Given the description of an element on the screen output the (x, y) to click on. 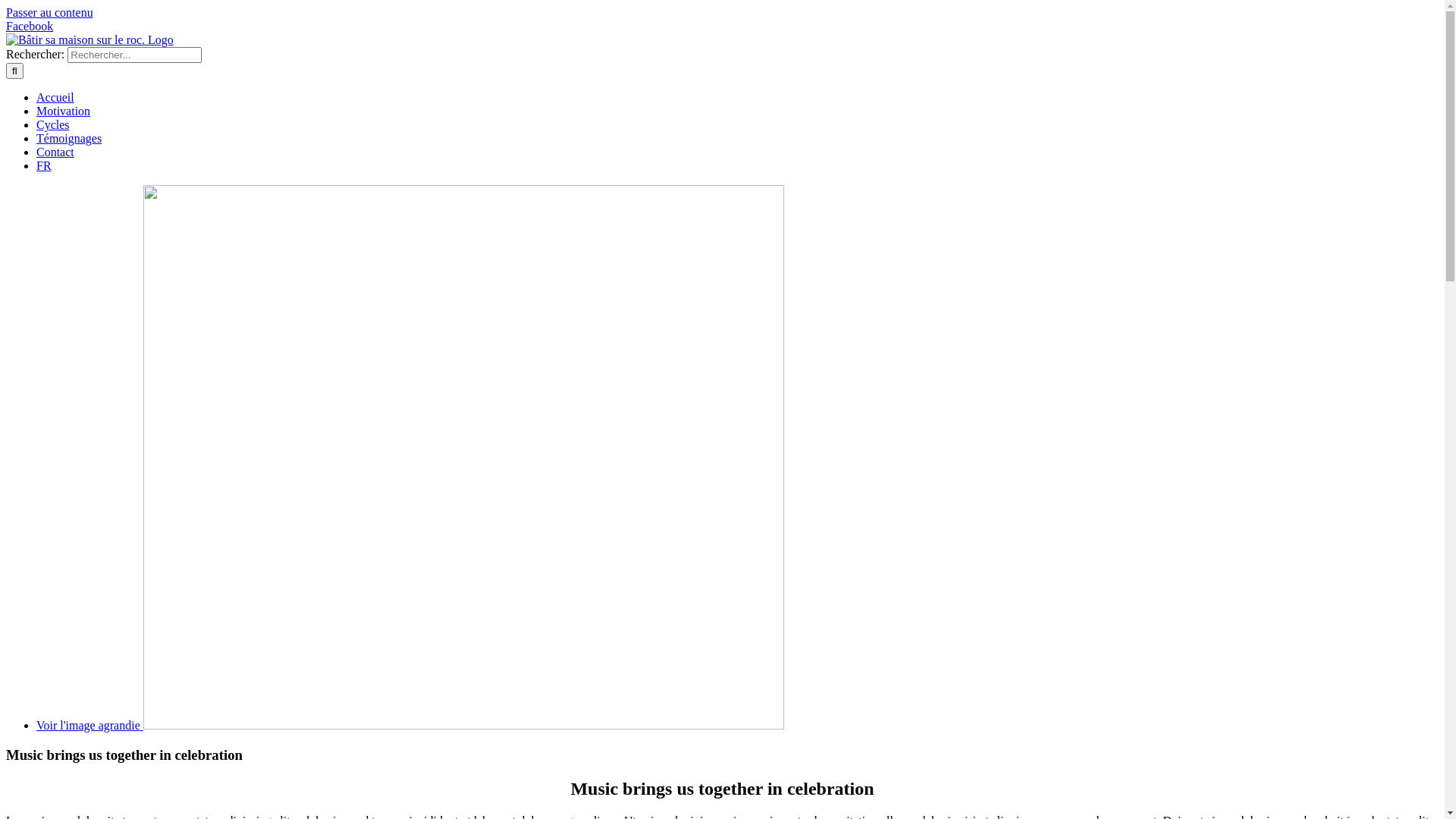
Cycles Element type: text (52, 124)
Voir l'image agrandie Element type: text (410, 724)
Passer au contenu Element type: text (49, 12)
Motivation Element type: text (63, 110)
FR Element type: text (43, 165)
Contact Element type: text (55, 151)
Accueil Element type: text (55, 97)
Facebook Element type: text (29, 25)
